Given the description of an element on the screen output the (x, y) to click on. 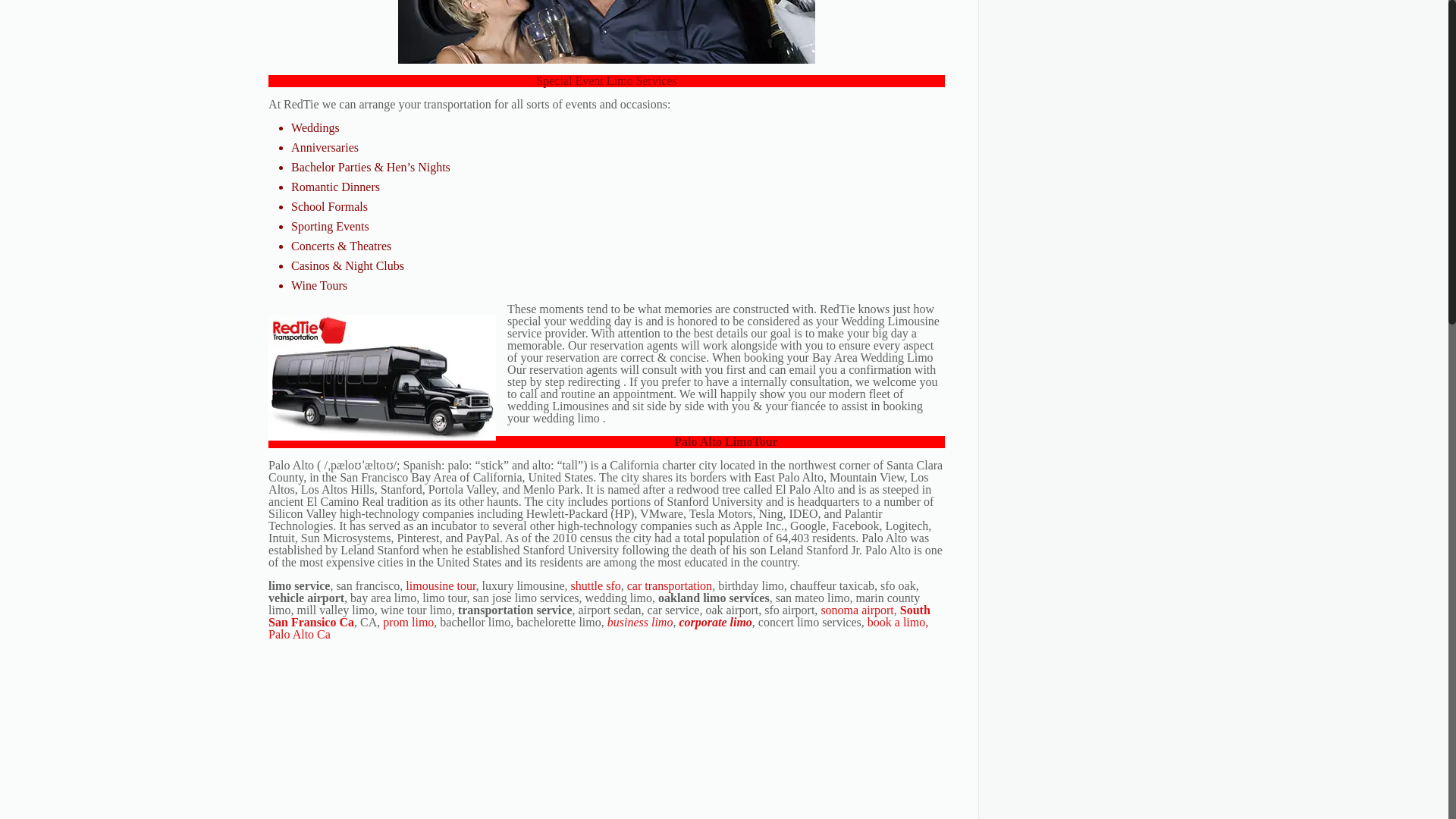
special (606, 31)
